Given the description of an element on the screen output the (x, y) to click on. 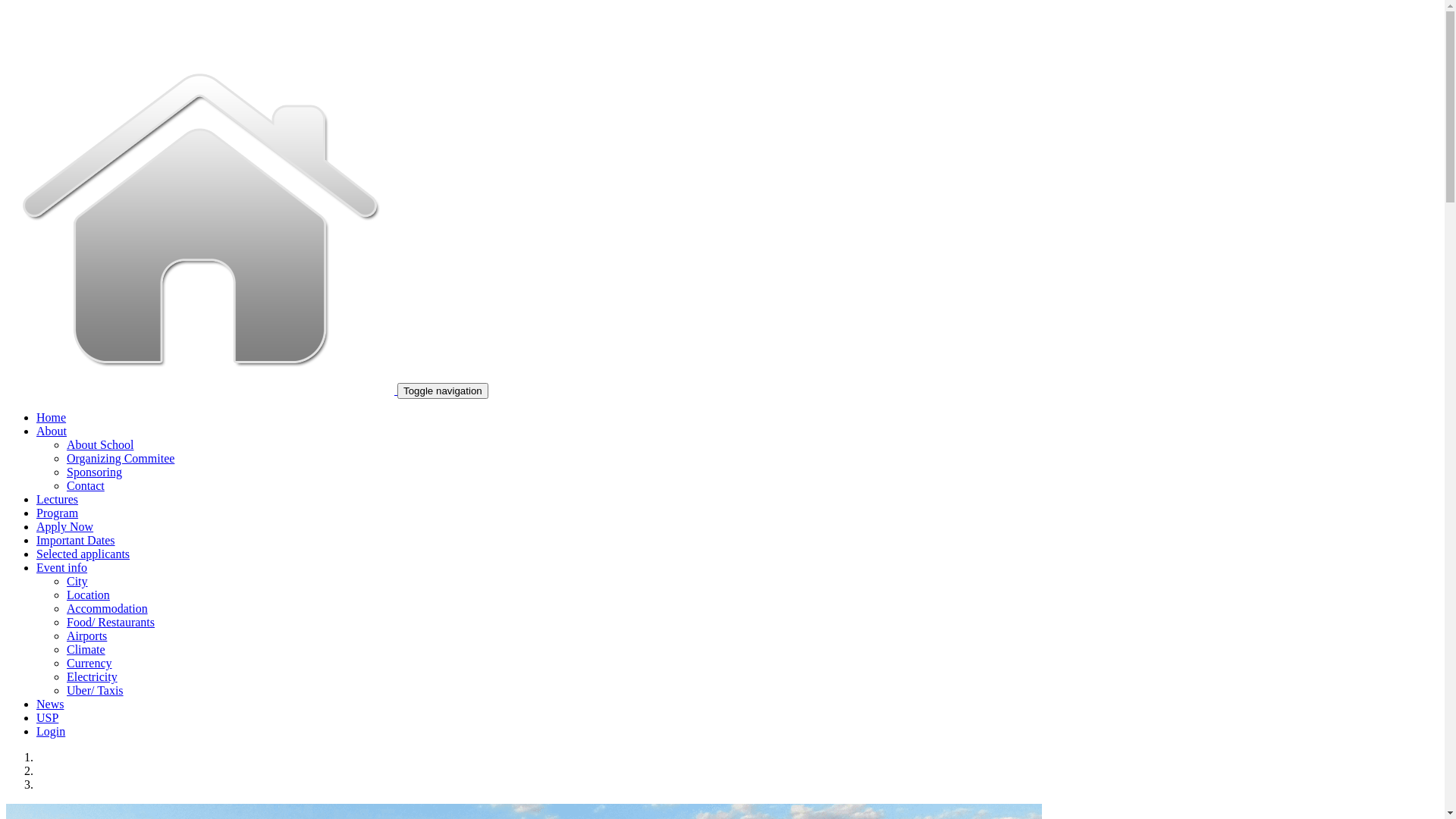
Accommodation Element type: text (106, 608)
Important Dates Element type: text (75, 539)
Airports Element type: text (86, 635)
Currency Element type: text (89, 662)
Uber/ Taxis Element type: text (94, 690)
Lectures Element type: text (57, 498)
Contact Element type: text (85, 485)
About Element type: text (51, 430)
Apply Now Element type: text (64, 526)
About School Element type: text (99, 444)
Login Element type: text (50, 730)
Food/ Restaurants Element type: text (110, 621)
Program Element type: text (57, 512)
Sponsoring Element type: text (94, 471)
Organizing Commitee Element type: text (120, 457)
Electricity Element type: text (91, 676)
City Element type: text (76, 580)
Selected applicants Element type: text (82, 553)
Event info Element type: text (61, 567)
News Element type: text (49, 703)
Climate Element type: text (85, 649)
Home Element type: text (50, 417)
Toggle navigation Element type: text (442, 390)
Location Element type: text (87, 594)
USP Element type: text (47, 717)
